Given the description of an element on the screen output the (x, y) to click on. 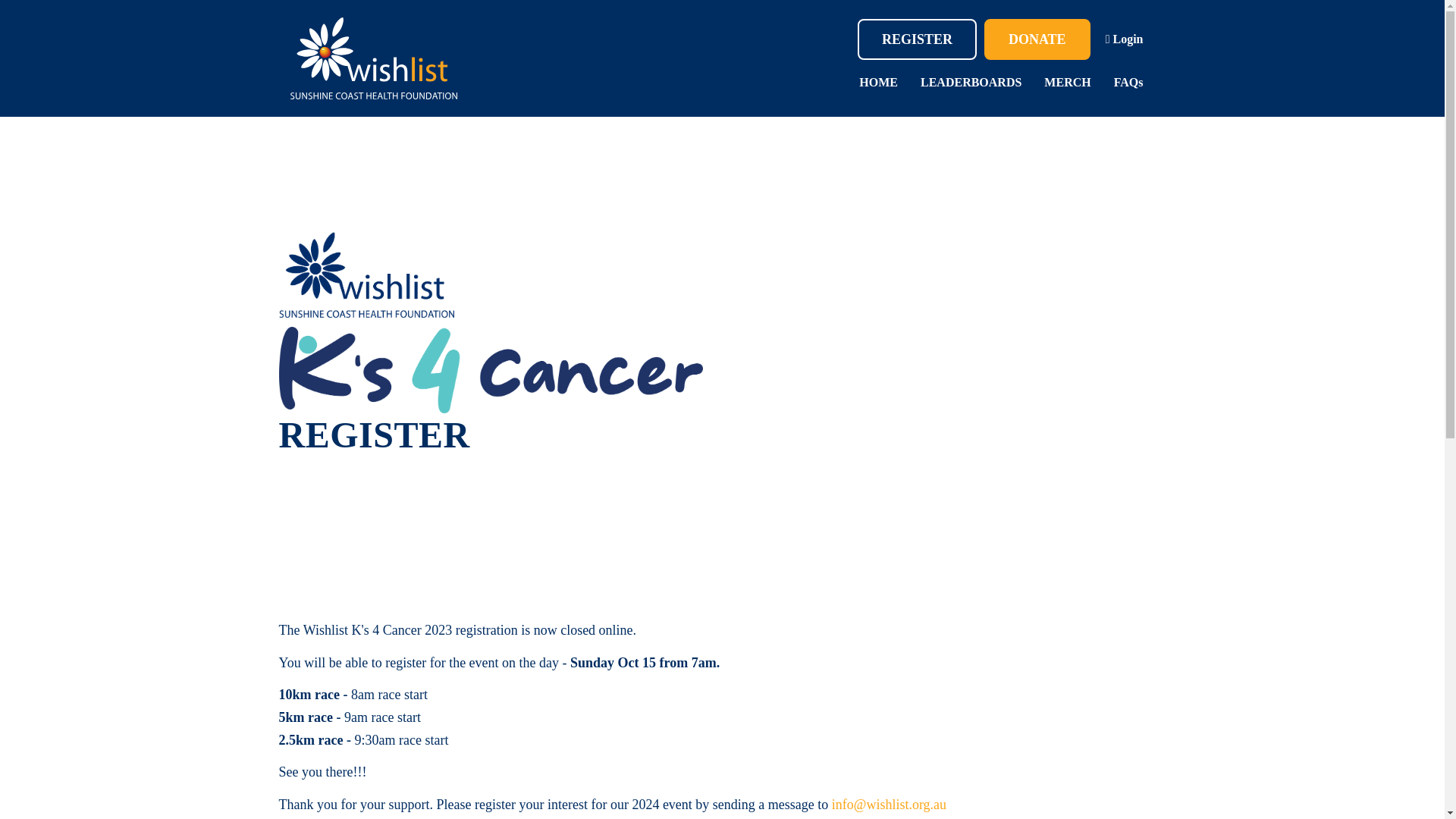
FAQs (1128, 82)
DONATE (1037, 38)
HOME (877, 82)
LEADERBOARDS (970, 82)
Login (1124, 39)
REGISTER (916, 38)
MERCH (1067, 82)
